Given the description of an element on the screen output the (x, y) to click on. 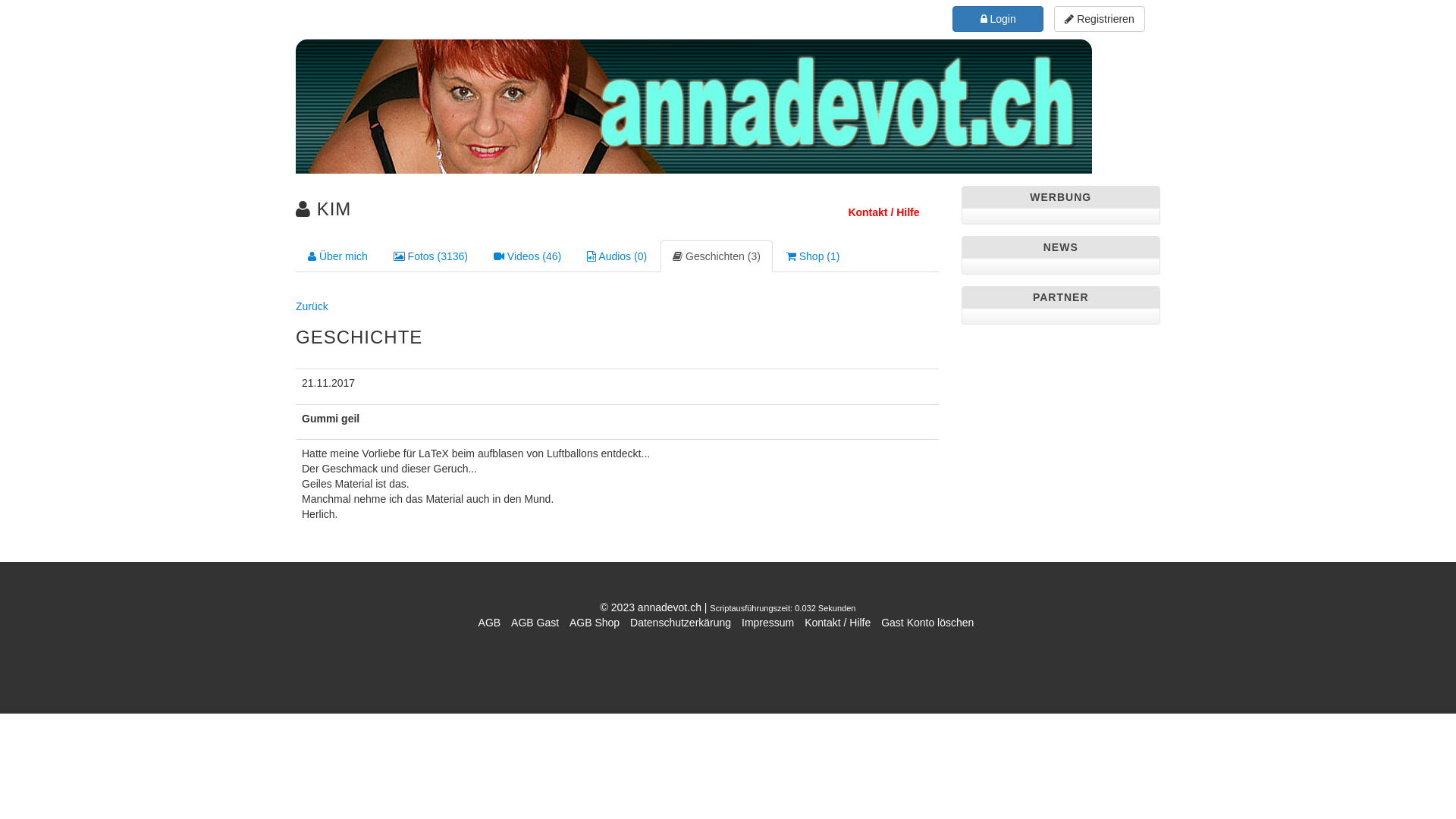
Kontakt / Hilfe Element type: text (837, 622)
Login Element type: text (997, 18)
Audios (0) Element type: text (616, 256)
AGB Shop Element type: text (594, 622)
Kontakt / Hilfe Element type: text (883, 212)
AGB Element type: text (489, 622)
Fotos (3136) Element type: text (430, 256)
Login Element type: text (997, 18)
Geschichten (3) Element type: text (716, 256)
Registrieren Element type: text (1099, 18)
Shop (1) Element type: text (813, 256)
Registrieren Element type: text (1099, 18)
Impressum Element type: text (767, 622)
AGB Gast Element type: text (534, 622)
Videos (46) Element type: text (527, 256)
